Given the description of an element on the screen output the (x, y) to click on. 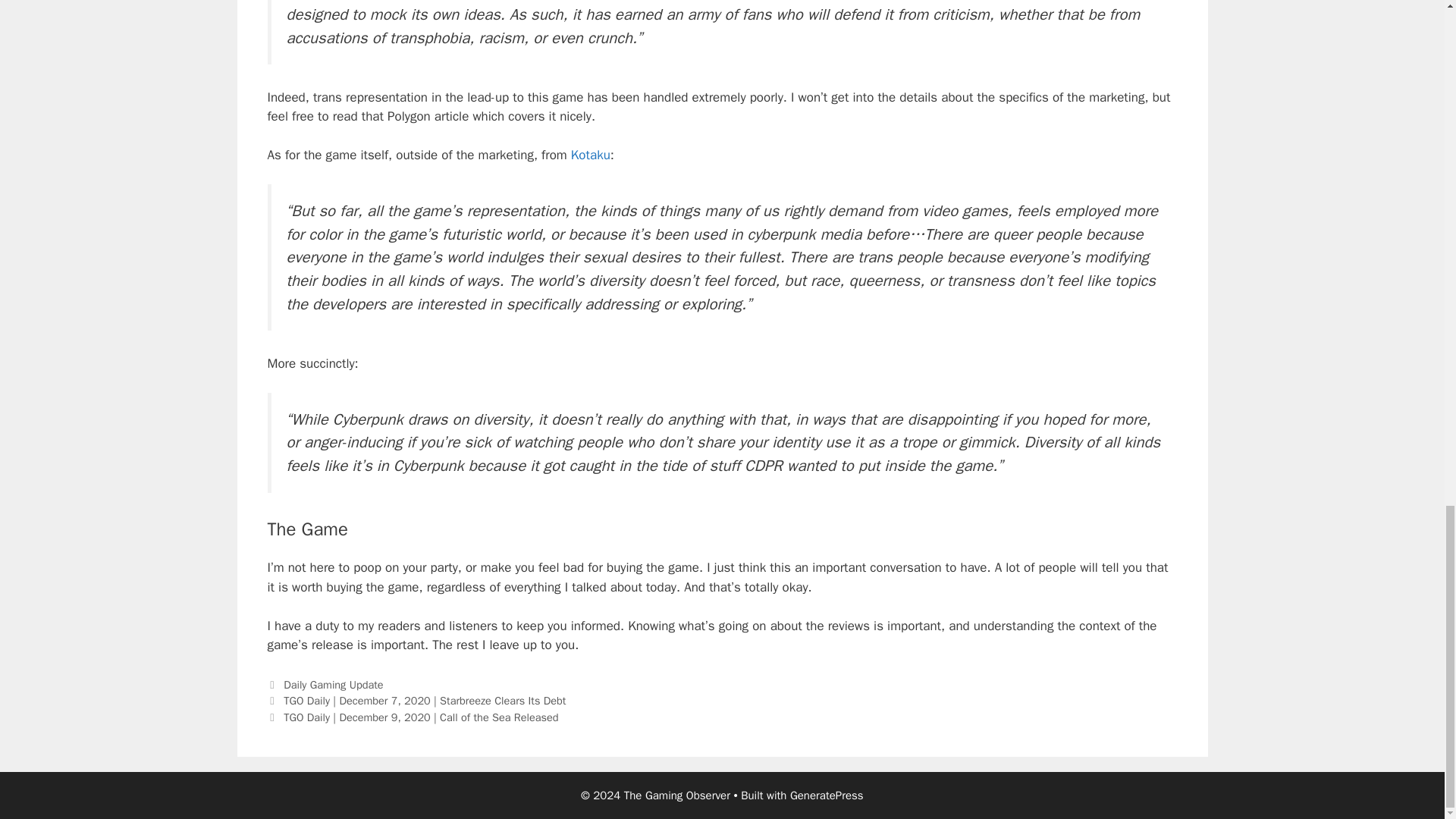
Kotaku (590, 154)
GeneratePress (826, 795)
Daily Gaming Update (333, 684)
